Given the description of an element on the screen output the (x, y) to click on. 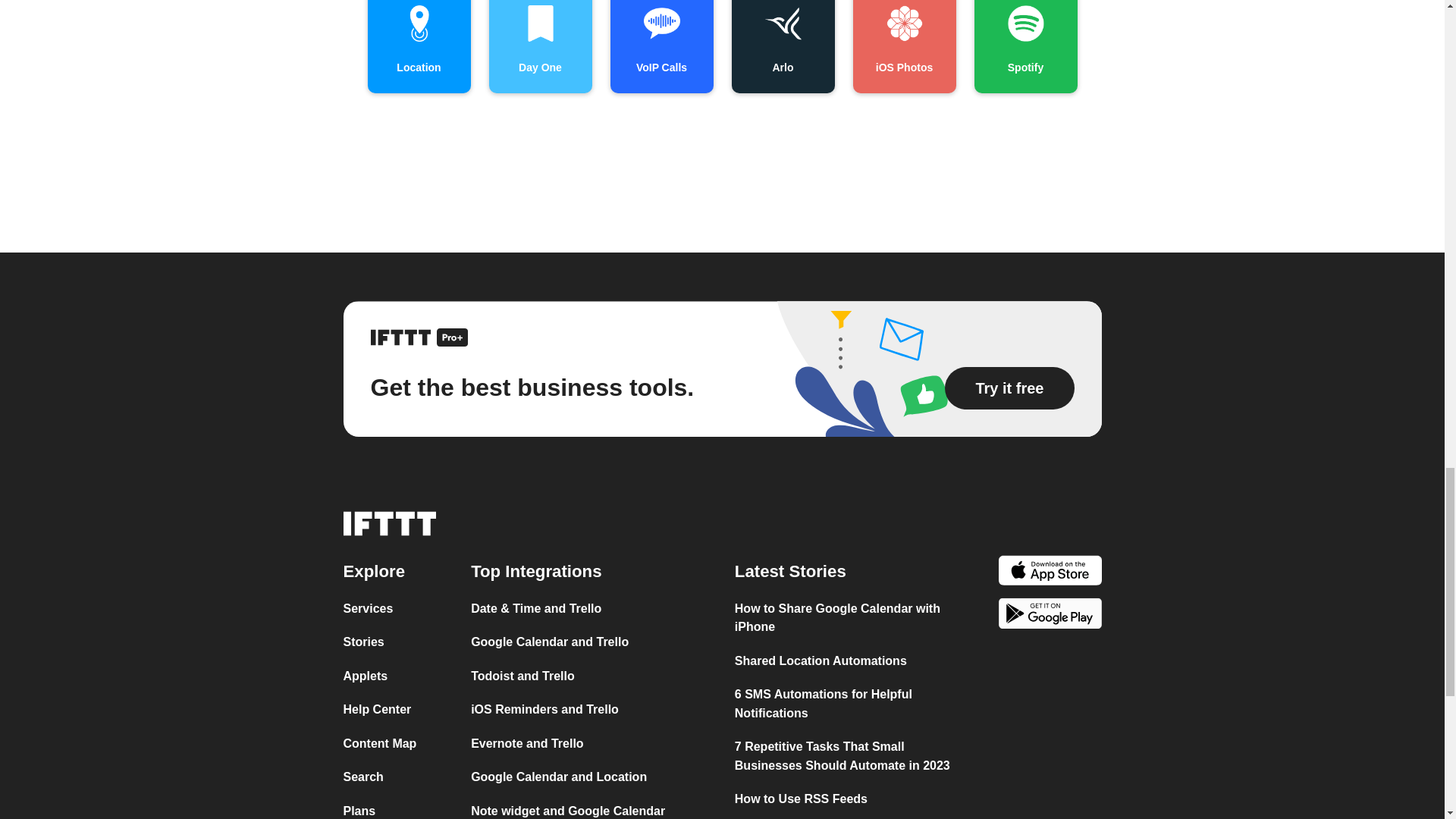
Location (418, 46)
